Given the description of an element on the screen output the (x, y) to click on. 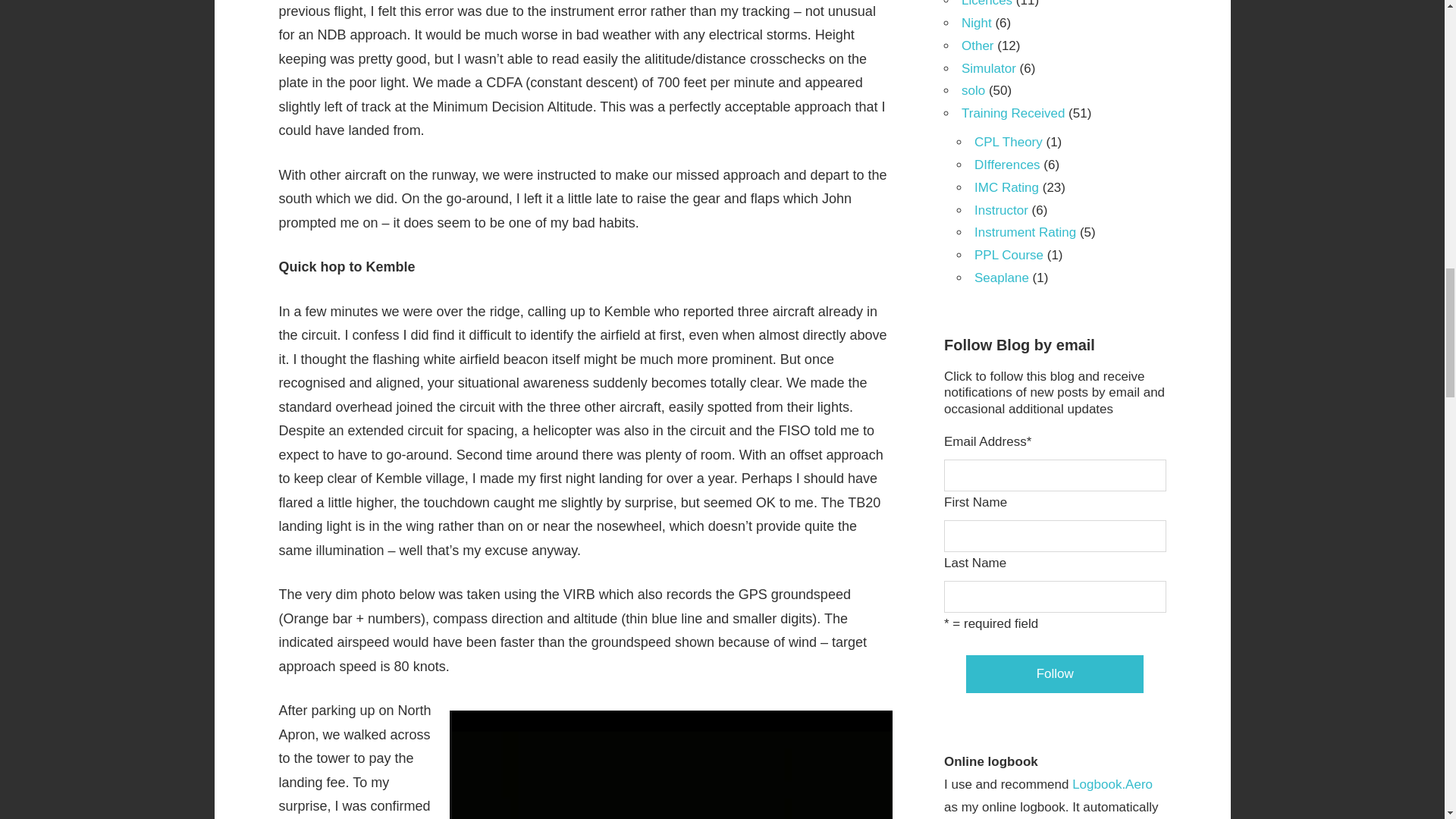
Training Received (1012, 113)
Follow (1054, 673)
Night (975, 22)
Simulator (988, 68)
CPL Theory (1008, 142)
Licences (985, 3)
solo (972, 90)
Other (977, 45)
DIfferences (1007, 164)
